Given the description of an element on the screen output the (x, y) to click on. 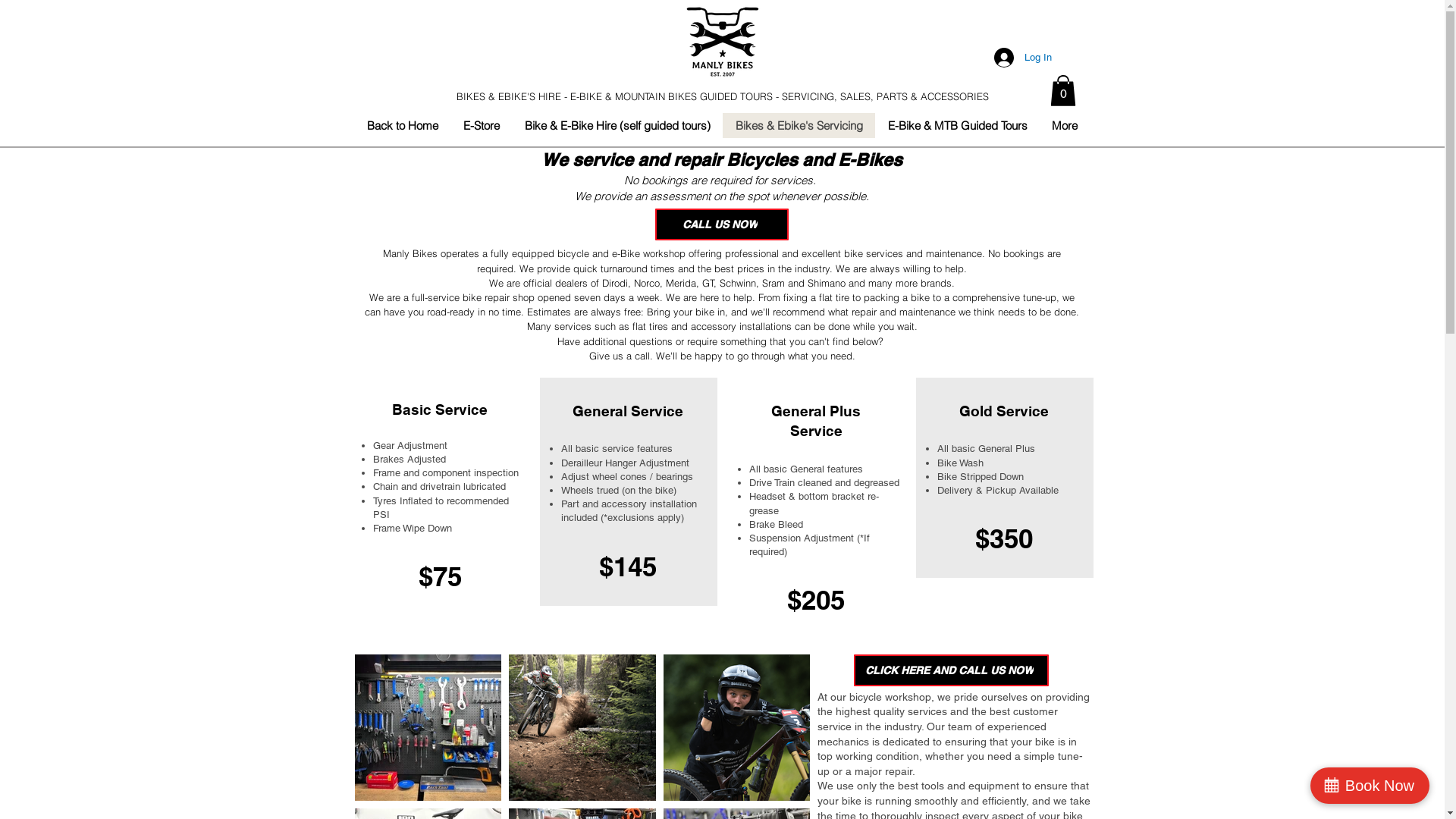
E-Bike & MTB Guided Tours Element type: text (957, 125)
Back to Home Element type: text (402, 125)
Bike & E-Bike Hire (self guided tours) Element type: text (616, 125)
CALL US NOW Element type: text (721, 224)
Book Now Element type: text (1369, 785)
0 Element type: text (1062, 90)
E-Store Element type: text (480, 125)
Log In Element type: text (1021, 57)
CLICK HERE AND CALL US NOW Element type: text (950, 670)
Bikes & Ebike's Servicing Element type: text (797, 125)
Menu Element type: hover (722, 41)
